Given the description of an element on the screen output the (x, y) to click on. 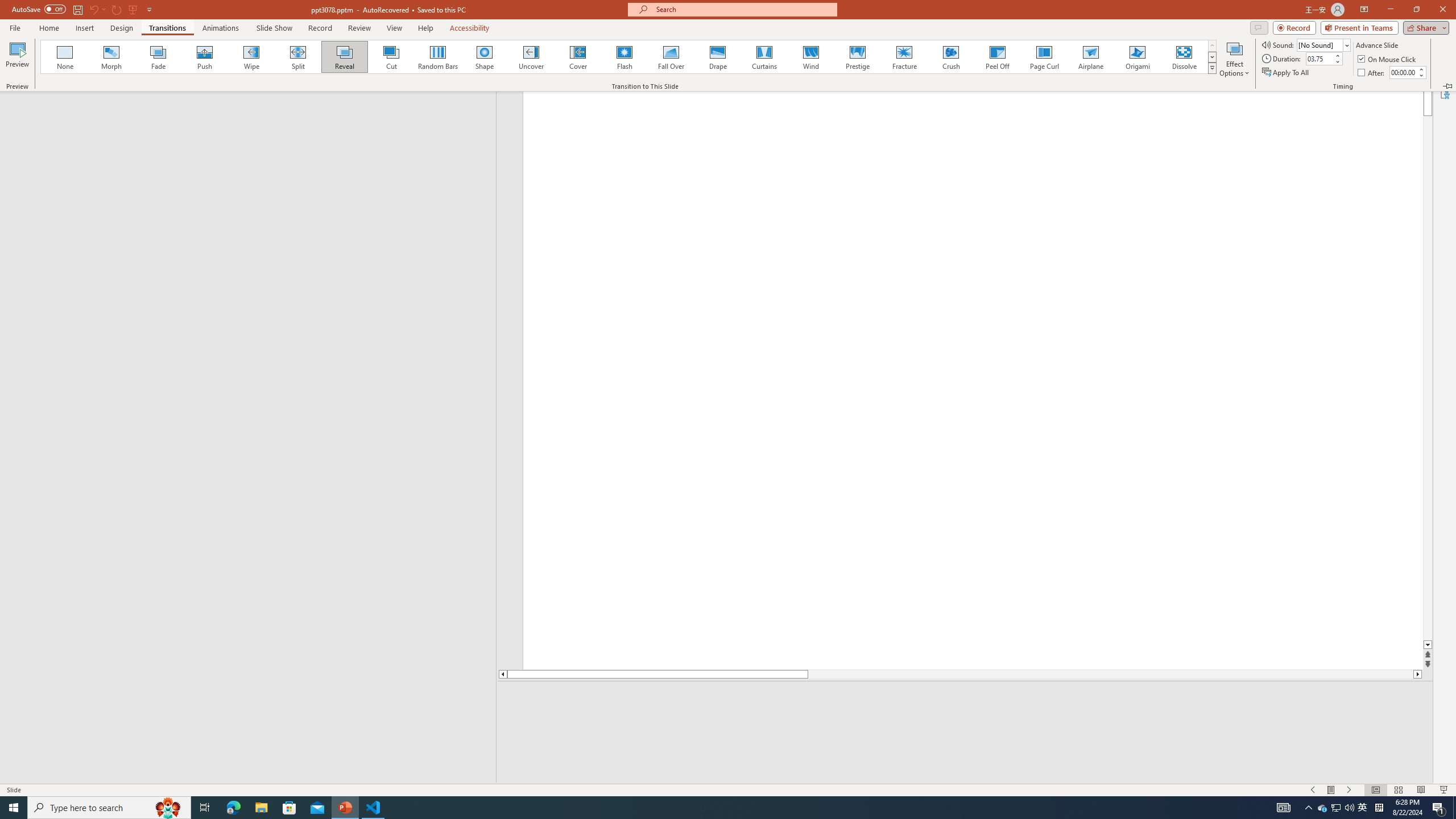
Slide Show Next On (1349, 790)
Action Center, 1 new notification (1439, 807)
